Given the description of an element on the screen output the (x, y) to click on. 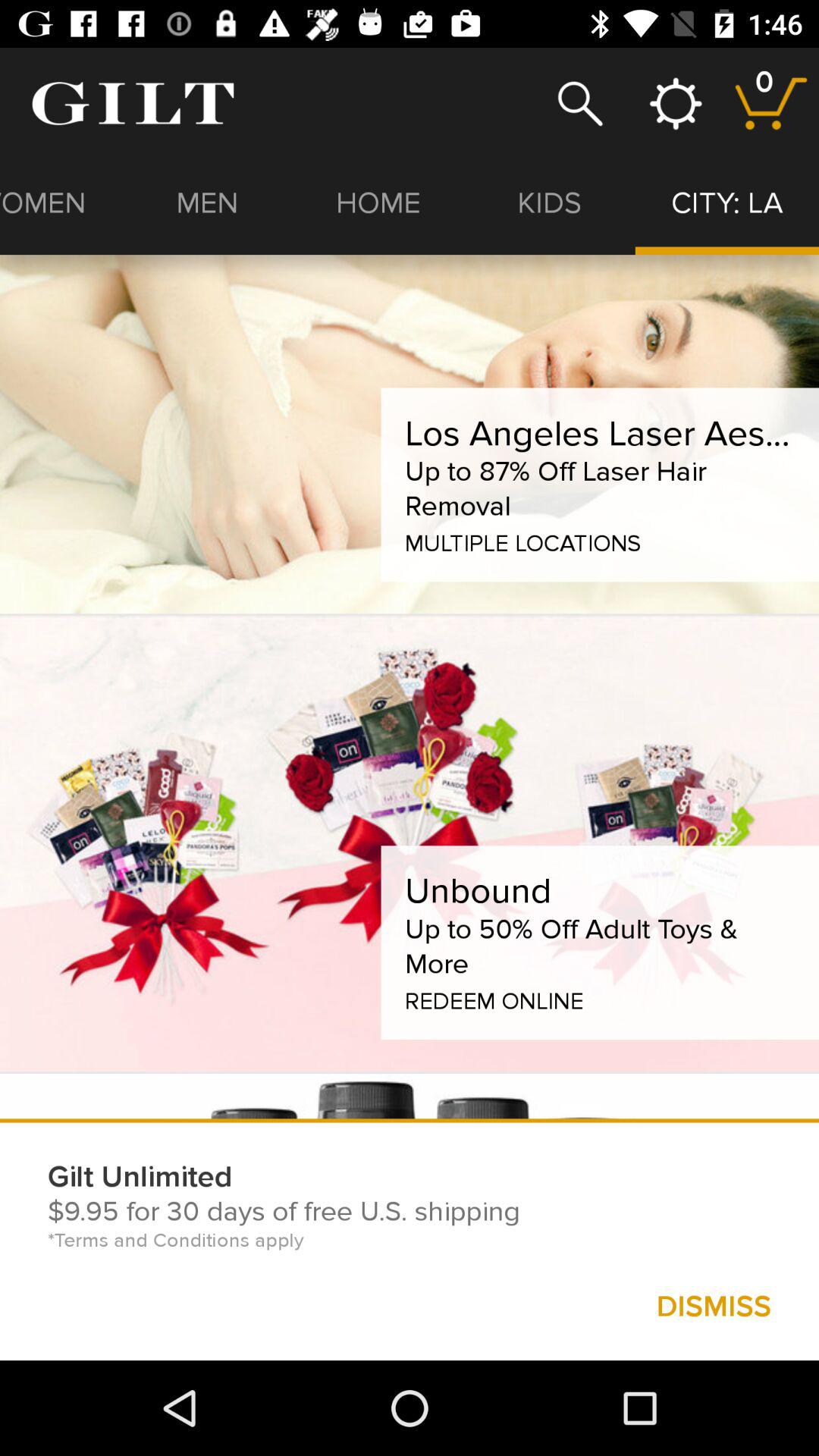
click item below the terms and conditions (713, 1306)
